Given the description of an element on the screen output the (x, y) to click on. 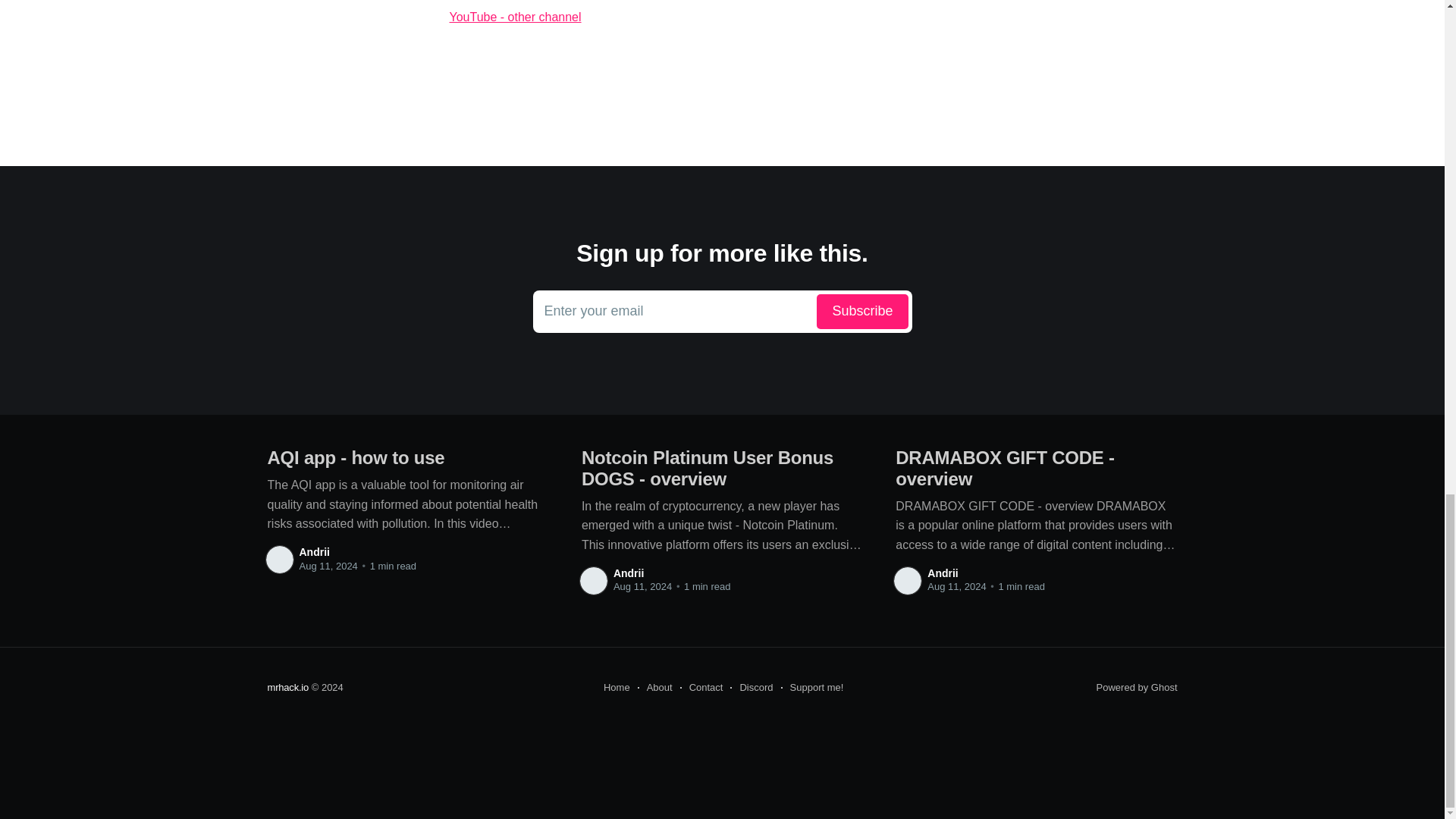
Discord (751, 687)
Support me! (812, 687)
Contact (701, 687)
YouTube - other channel (721, 17)
mrhack.io (287, 686)
Andrii (942, 573)
Home (721, 311)
Andrii (617, 687)
